Given the description of an element on the screen output the (x, y) to click on. 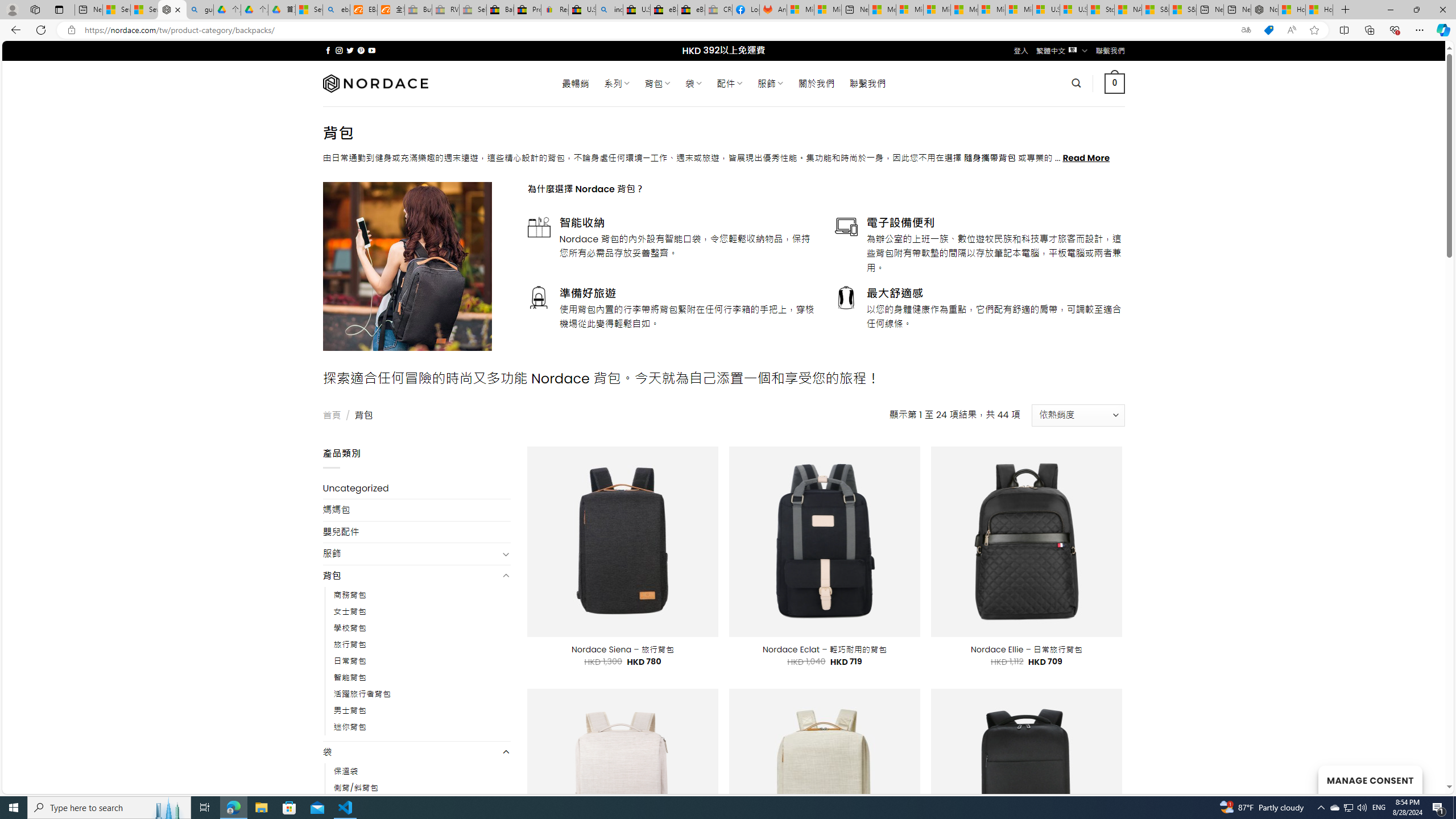
eBay Inc. Reports Third Quarter 2023 Results (691, 9)
